Given the description of an element on the screen output the (x, y) to click on. 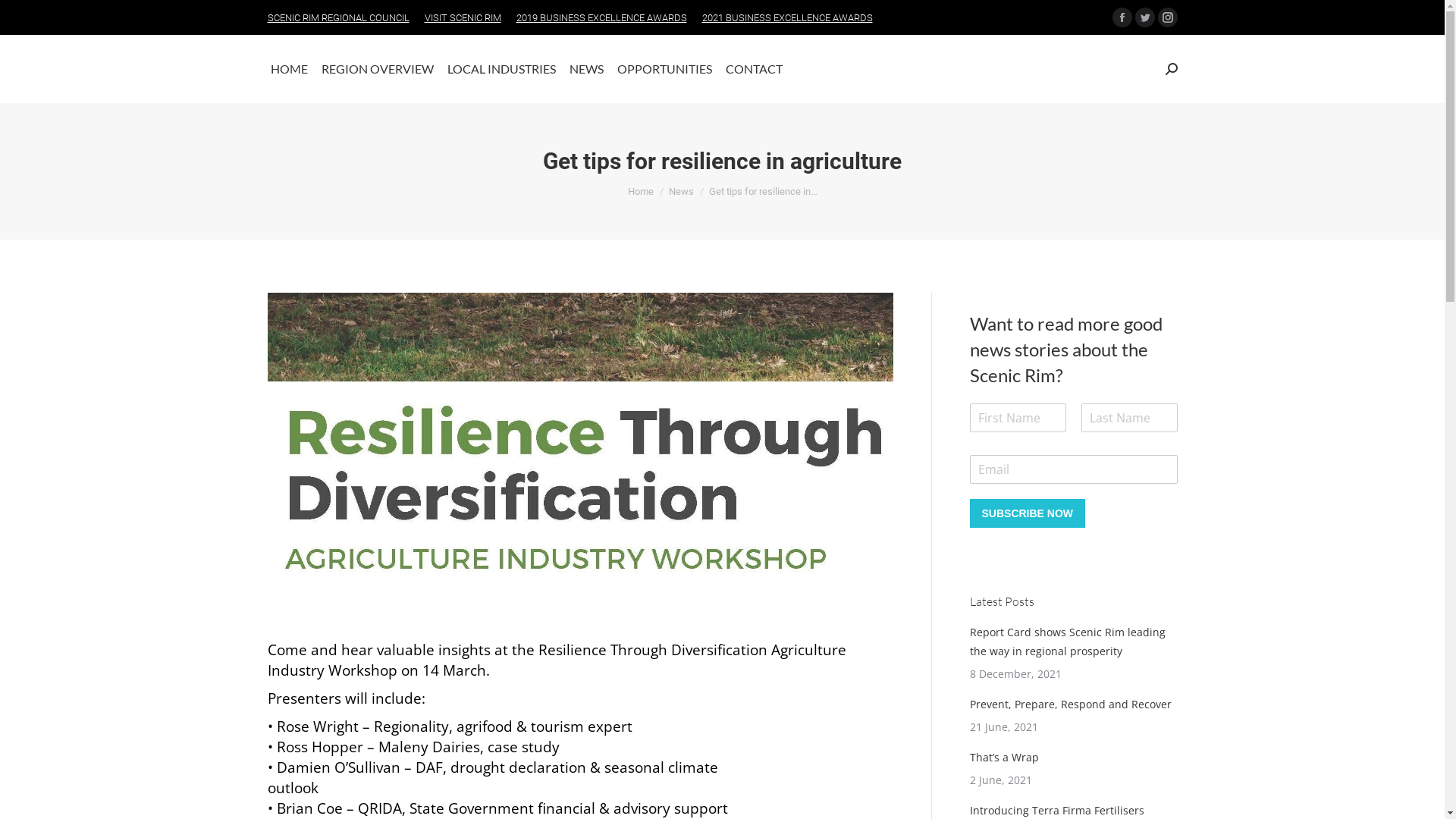
SUBSCRIBE NOW Element type: text (1027, 512)
Go! Element type: text (23, 16)
Instagram page opens in new window Element type: text (1166, 17)
News Element type: text (680, 191)
OPPORTUNITIES Element type: text (664, 68)
CONTACT Element type: text (752, 68)
LOCAL INDUSTRIES Element type: text (501, 68)
NEWS Element type: text (585, 68)
Prevent, Prepare, Respond and Recover Element type: text (1069, 703)
Home Element type: text (640, 191)
HOME Element type: text (288, 68)
2021 BUSINESS EXCELLENCE AWARDS Element type: text (787, 17)
VISIT SCENIC RIM Element type: text (462, 17)
Header Resilience through Diversification Element type: hover (579, 448)
REGION OVERVIEW Element type: text (377, 68)
SCENIC RIM REGIONAL COUNCIL Element type: text (337, 17)
2019 BUSINESS EXCELLENCE AWARDS Element type: text (600, 17)
Twitter page opens in new window Element type: text (1144, 17)
Facebook page opens in new window Element type: text (1121, 17)
